Given the description of an element on the screen output the (x, y) to click on. 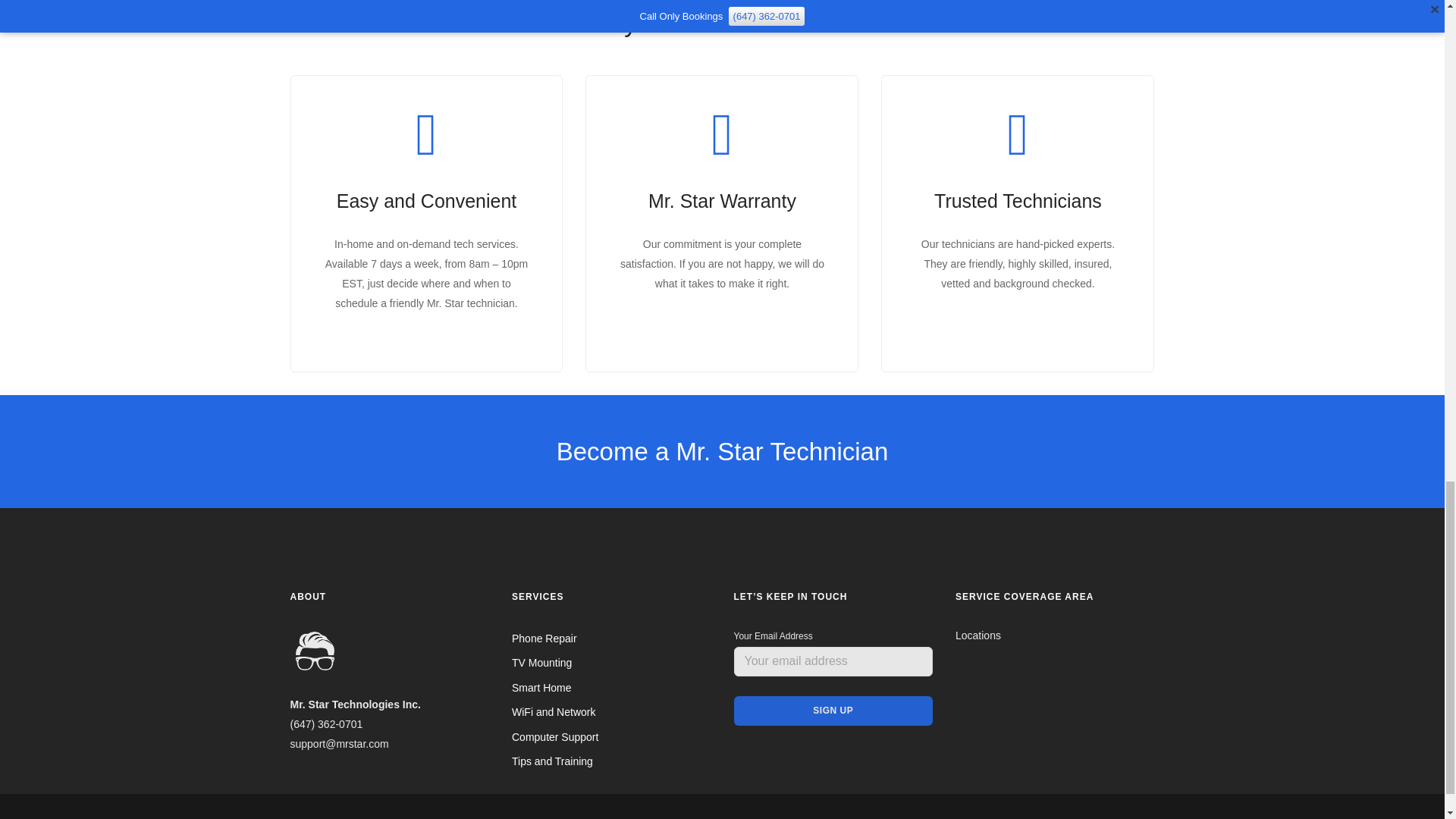
Phone Repair (544, 638)
Tips and Training (552, 761)
Sign up (833, 710)
WiFi and Network (553, 711)
Sign up (833, 710)
Smart Home (542, 687)
TV Mounting (542, 662)
Computer Support (555, 736)
